Given the description of an element on the screen output the (x, y) to click on. 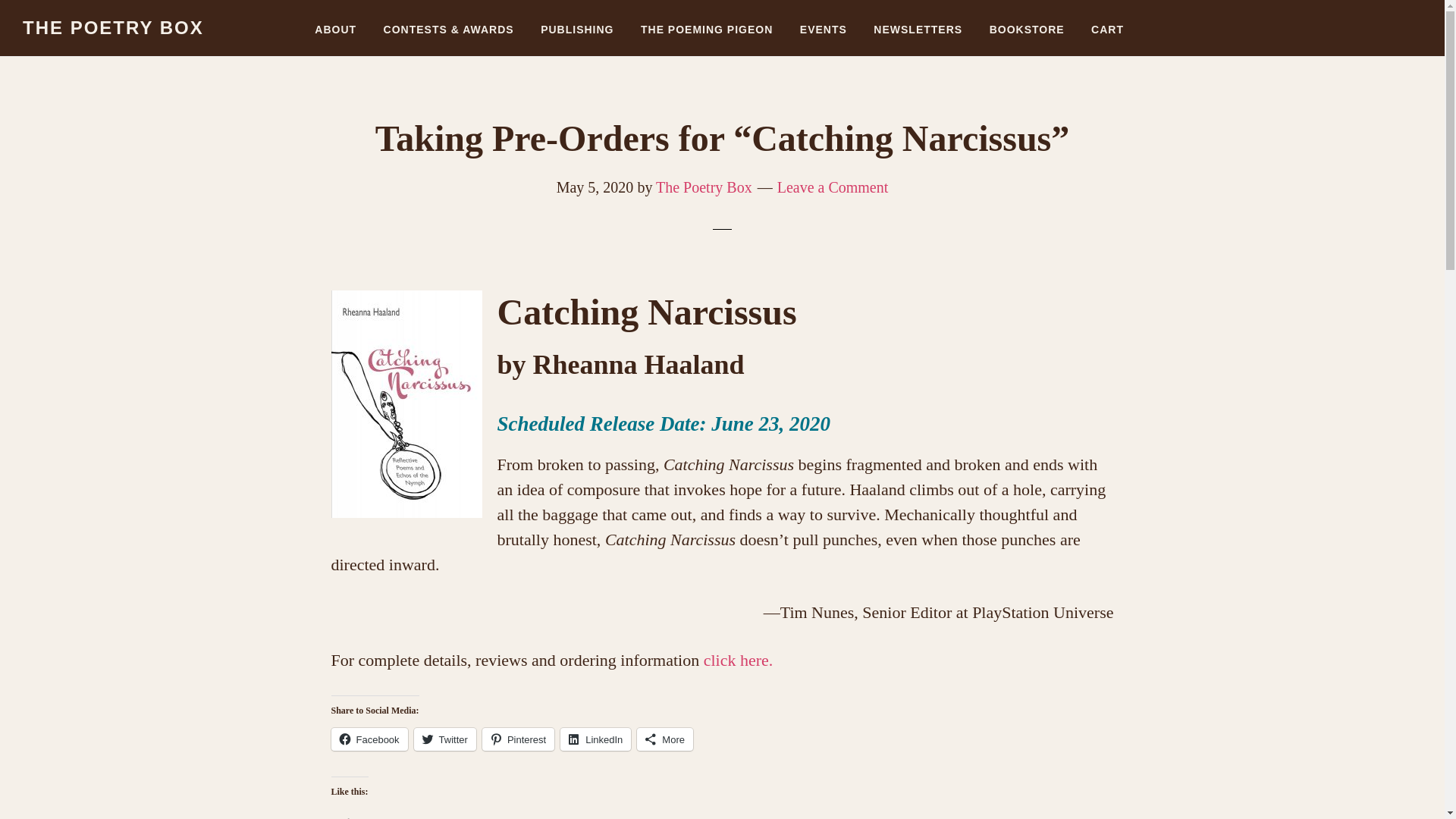
ABOUT (335, 22)
PUBLISHING (576, 22)
EVENTS (824, 22)
Click to share on Pinterest (517, 739)
Click to share on LinkedIn (595, 739)
Click to share on Facebook (368, 739)
Leave a Comment (832, 187)
Click to share on Twitter (444, 739)
BOOKSTORE (1026, 22)
THE POETRY BOX (113, 27)
